Given the description of an element on the screen output the (x, y) to click on. 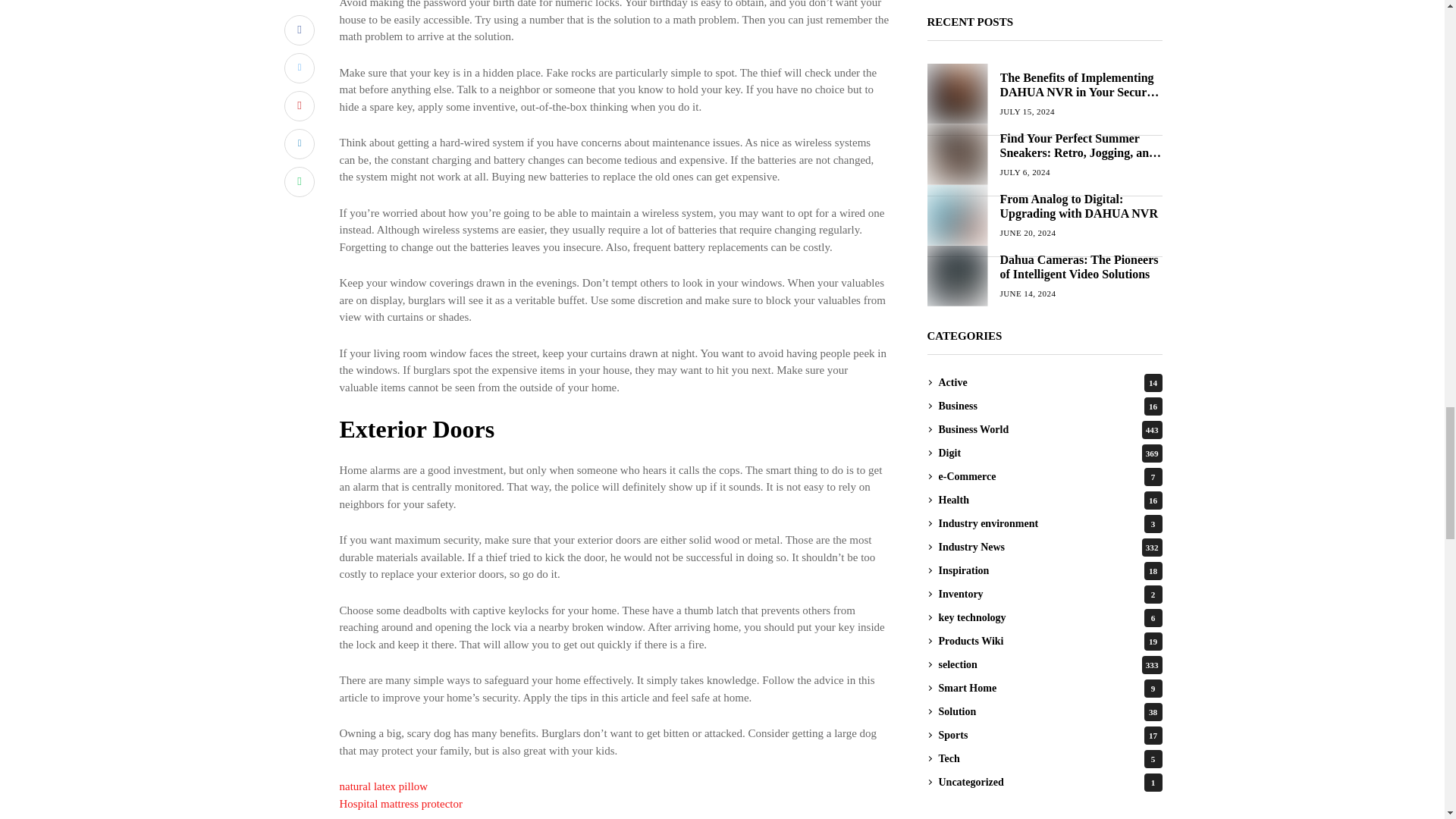
natural latex pillow (383, 786)
Hospital mattress protector (401, 803)
